Given the description of an element on the screen output the (x, y) to click on. 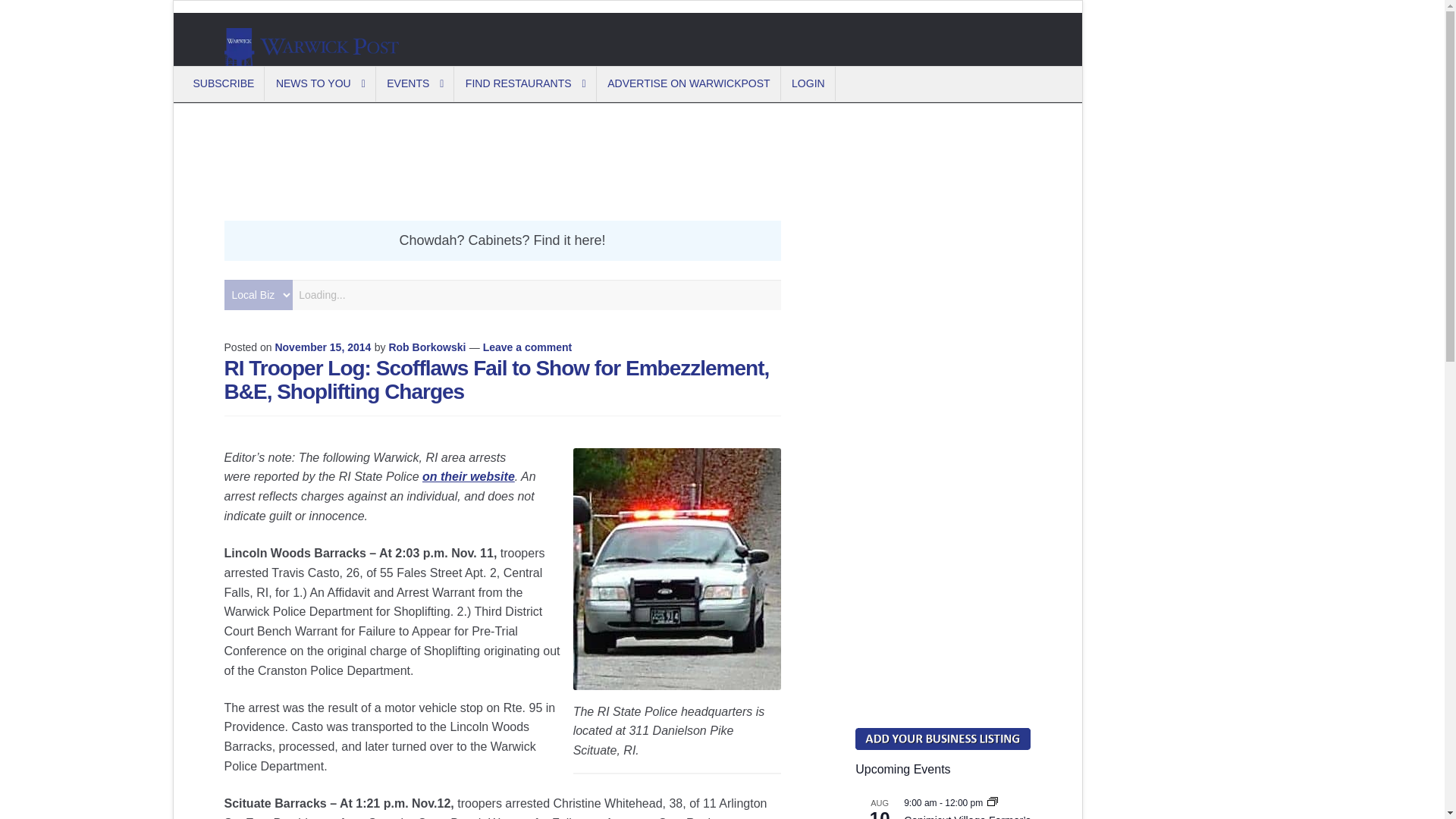
Event Series (992, 802)
EVENTS (415, 83)
NEWS TO YOU (321, 83)
SUBSCRIBE (223, 83)
FIND RESTAURANTS (526, 83)
